Given the description of an element on the screen output the (x, y) to click on. 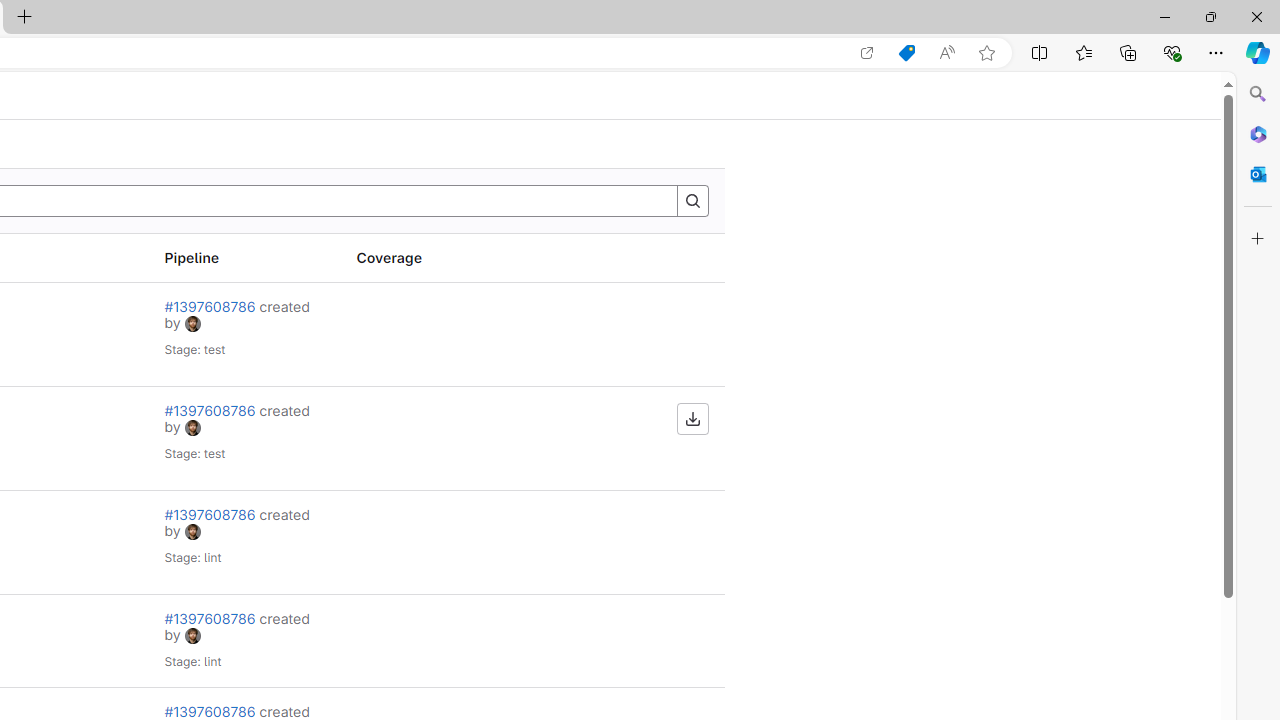
Download artifacts (692, 418)
#1397608786 created by avatar Stage: test (244, 438)
Open in app (867, 53)
avatar (192, 635)
Coverage (436, 258)
#1397608786  (211, 711)
Pipeline (244, 258)
